Given the description of an element on the screen output the (x, y) to click on. 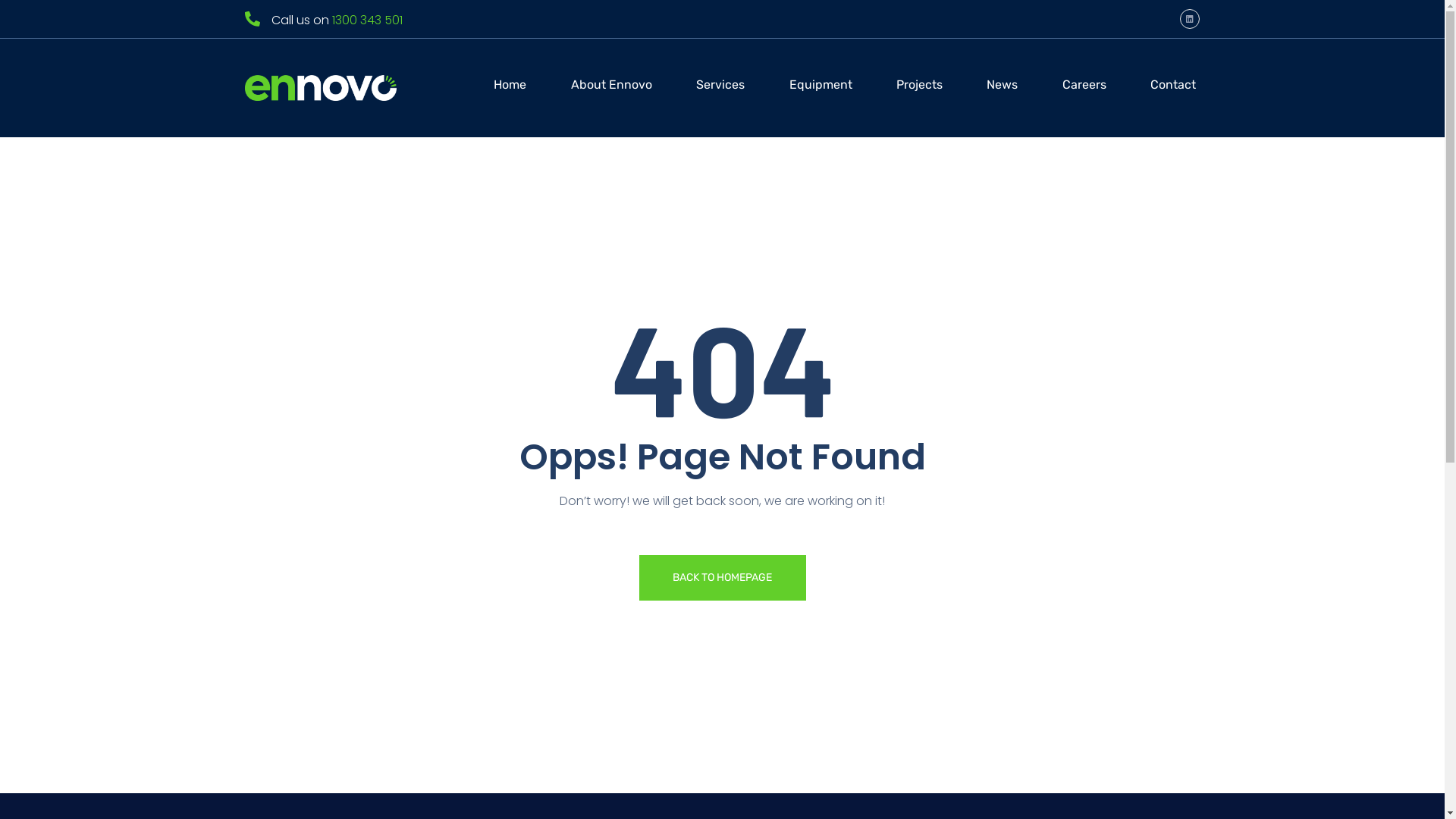
News Element type: text (1001, 88)
BACK TO HOMEPAGE Element type: text (721, 577)
Projects Element type: text (919, 88)
Careers Element type: text (1084, 88)
1300 343 501 Element type: text (367, 19)
Equipment Element type: text (820, 88)
About Ennovo Element type: text (611, 88)
Contact Element type: text (1172, 88)
Services Element type: text (720, 88)
Home Element type: text (509, 88)
